Given the description of an element on the screen output the (x, y) to click on. 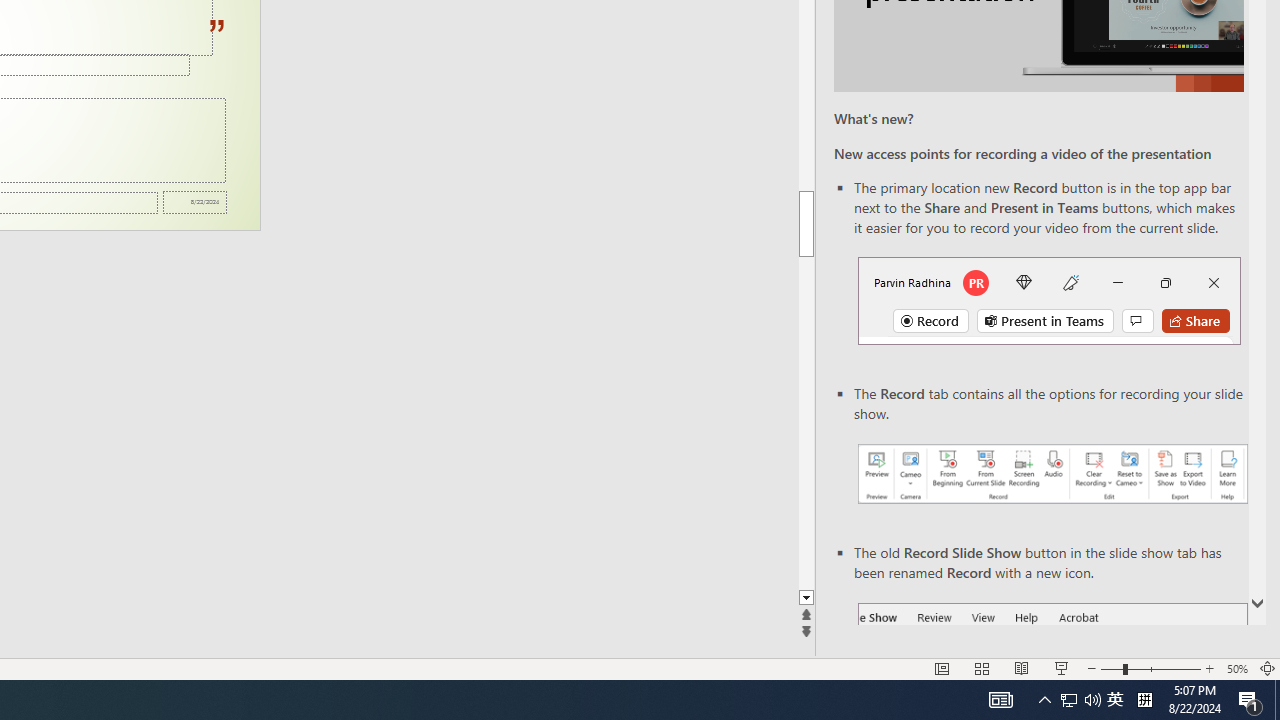
Date (194, 201)
Record your presentations screenshot one (1052, 473)
Zoom 50% (1236, 668)
Record button in top bar (1049, 300)
